Given the description of an element on the screen output the (x, y) to click on. 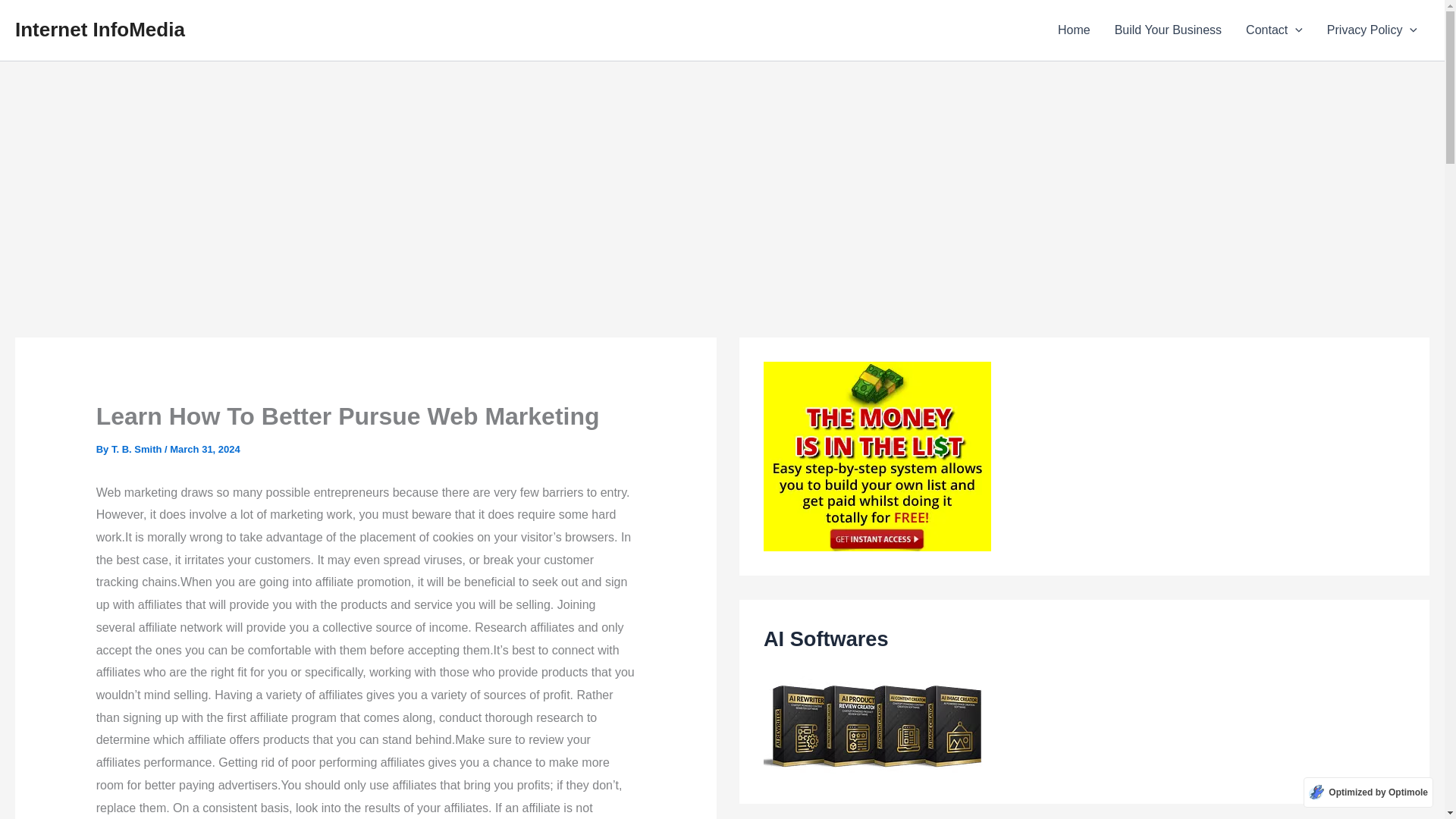
T. B. Smith (138, 449)
View all posts by T. B. Smith (138, 449)
Build Your Business (1167, 30)
Home (1073, 30)
Privacy Policy (1371, 30)
Internet InfoMedia (99, 29)
Contact (1273, 30)
